Given the description of an element on the screen output the (x, y) to click on. 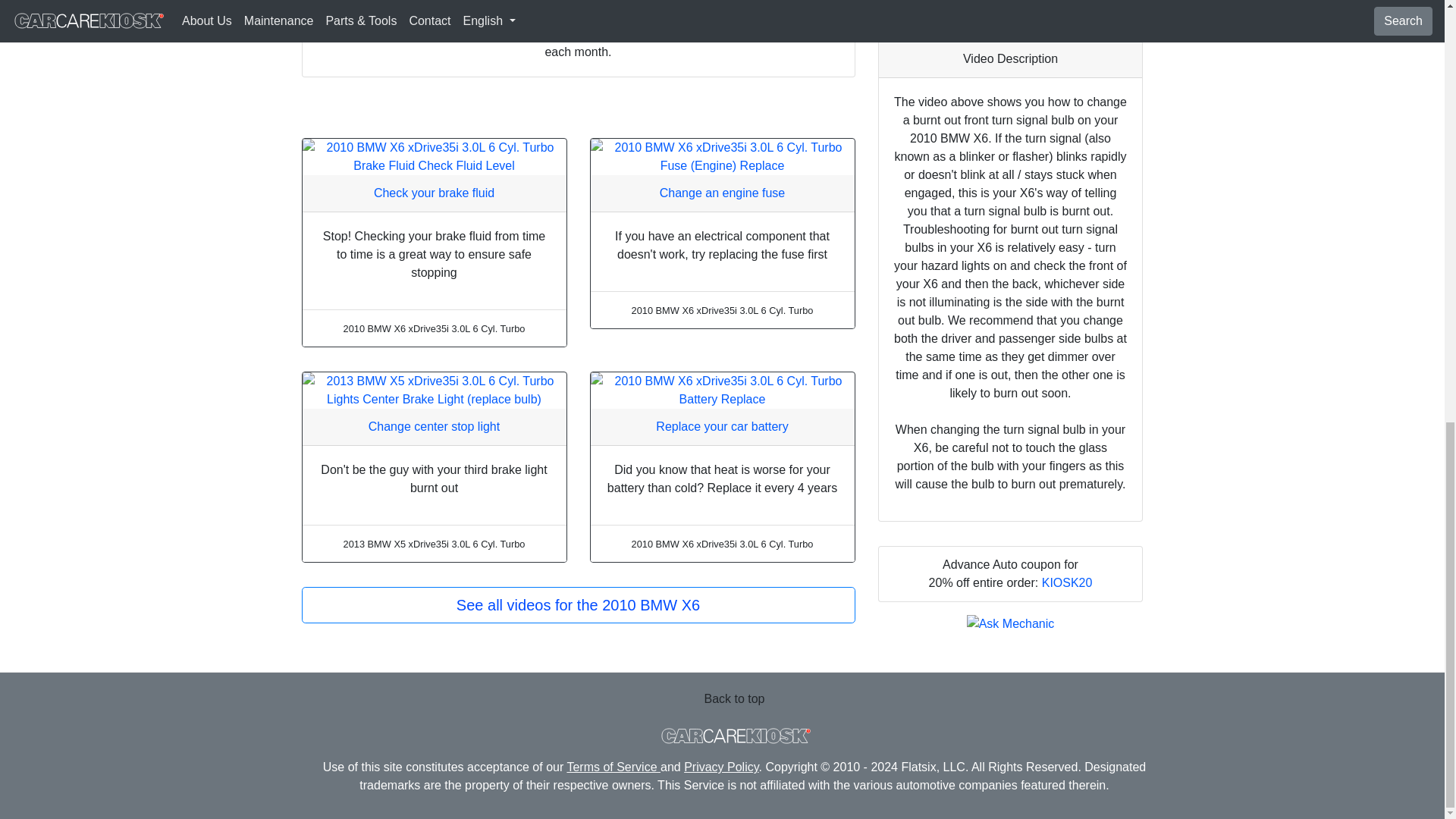
Check your brake fluid (434, 192)
Change center stop light (433, 426)
Change an engine fuse (721, 192)
Replace your car battery (721, 426)
See all videos for the 2010 BMW X6 (578, 605)
